Given the description of an element on the screen output the (x, y) to click on. 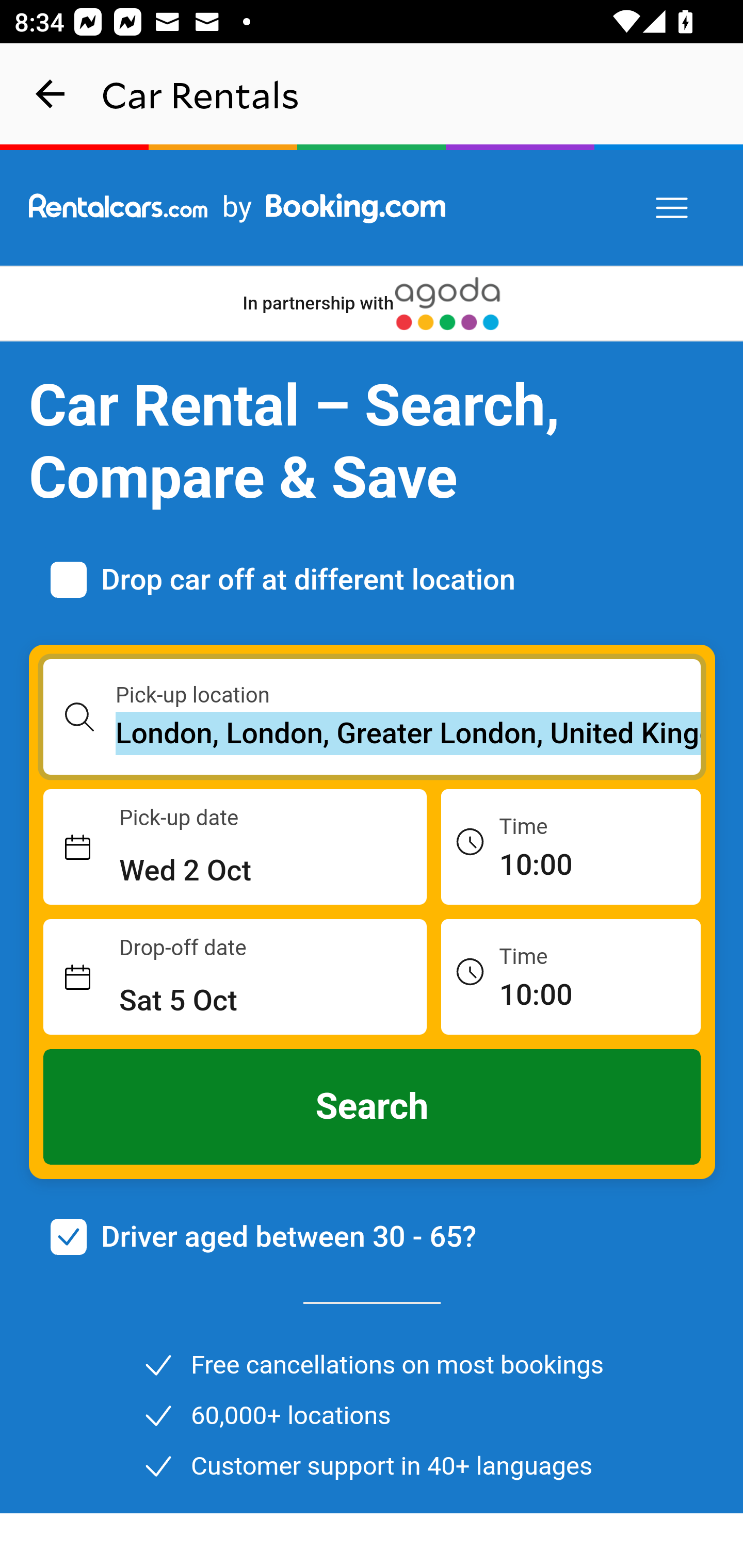
navigation_button (50, 93)
Menu (672, 208)
London, London, Greater London, United Kingdom (408, 733)
Pick-up date Wed 2 Oct (235, 847)
10:00 (571, 845)
Drop-off date Sat 5 Oct (235, 977)
10:00 (571, 975)
Search (372, 1106)
